Given the description of an element on the screen output the (x, y) to click on. 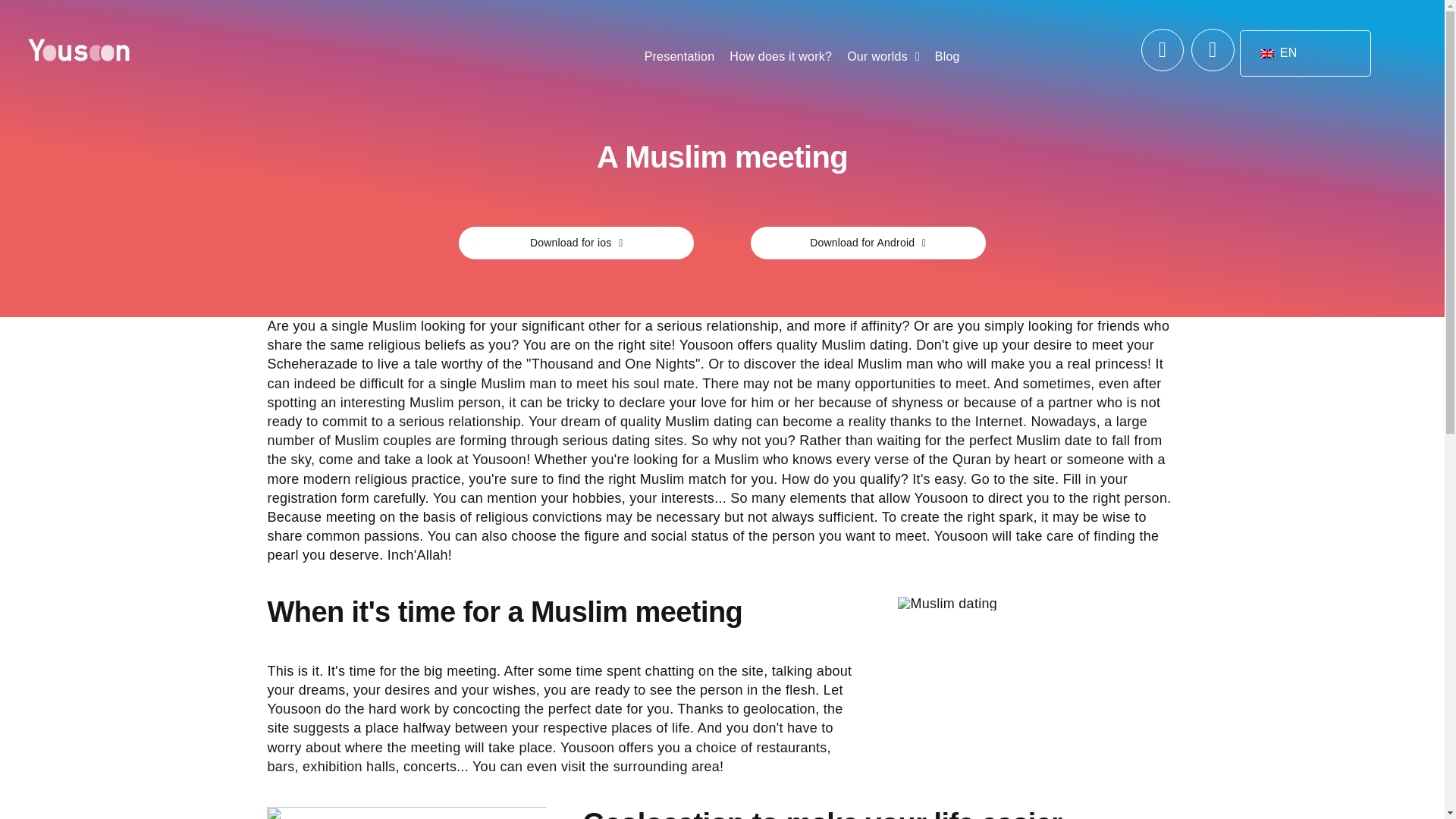
Presentation (679, 56)
Blog (947, 56)
How does it work? (781, 56)
EN (1302, 52)
Our worlds (877, 56)
